Given the description of an element on the screen output the (x, y) to click on. 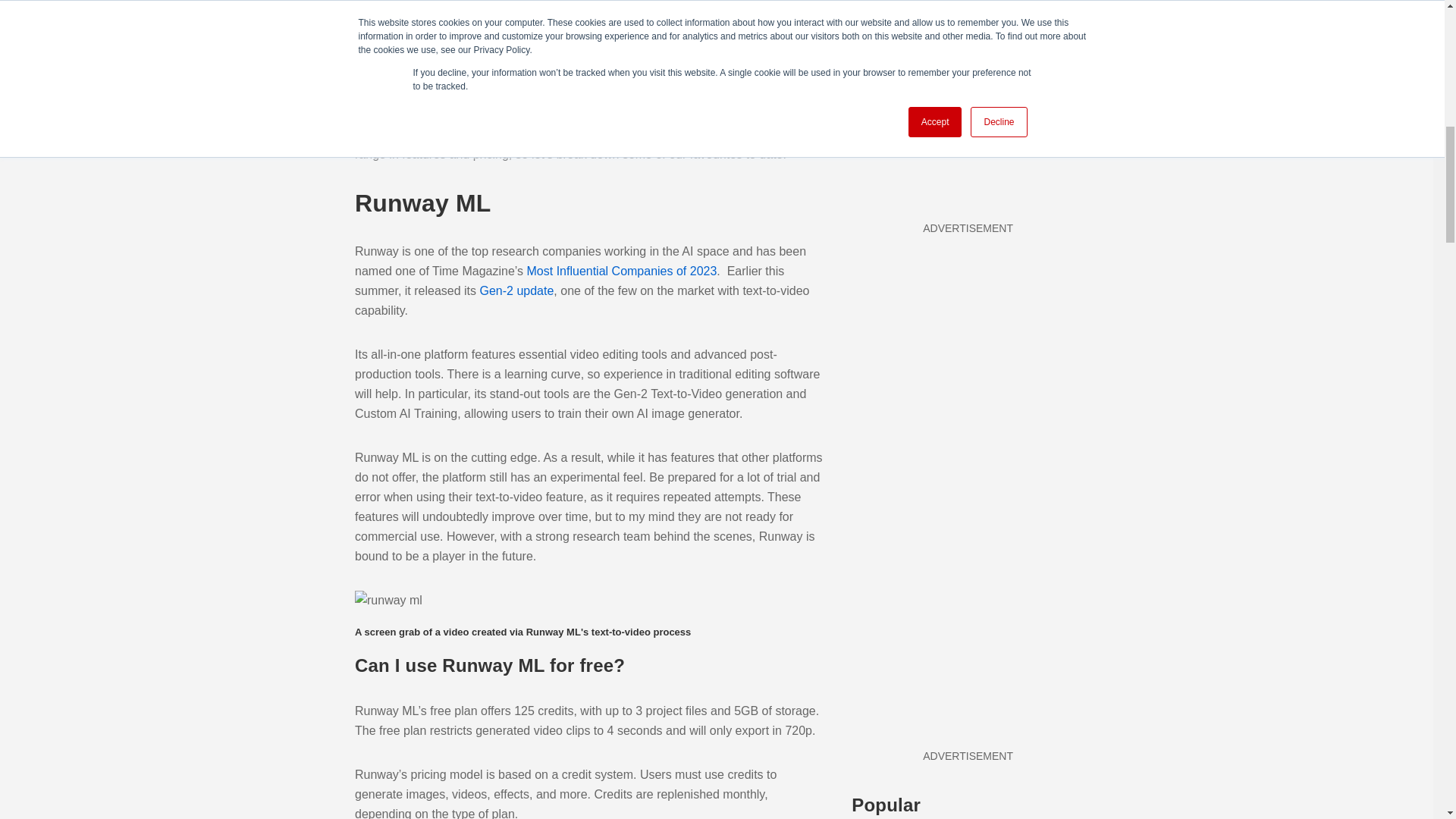
Most Influential Companies of 2023 (619, 270)
Gen-2 update (514, 290)
